Given the description of an element on the screen output the (x, y) to click on. 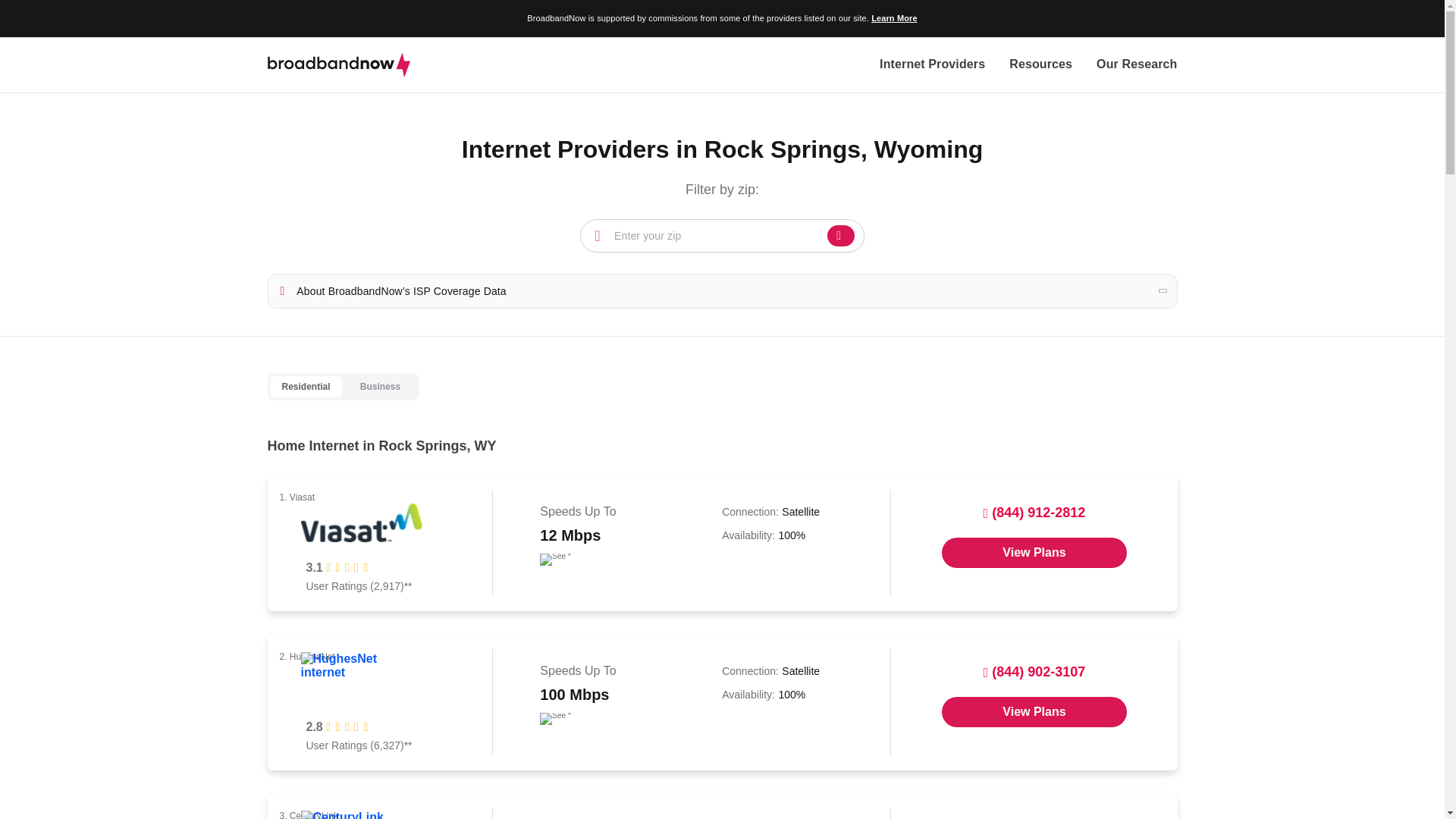
Resources (1040, 64)
Internet Providers (932, 64)
Learn More (893, 17)
Our Research (1136, 64)
Opens in a new window (1034, 552)
Opens in a new window (1034, 711)
Residential (305, 386)
